Given the description of an element on the screen output the (x, y) to click on. 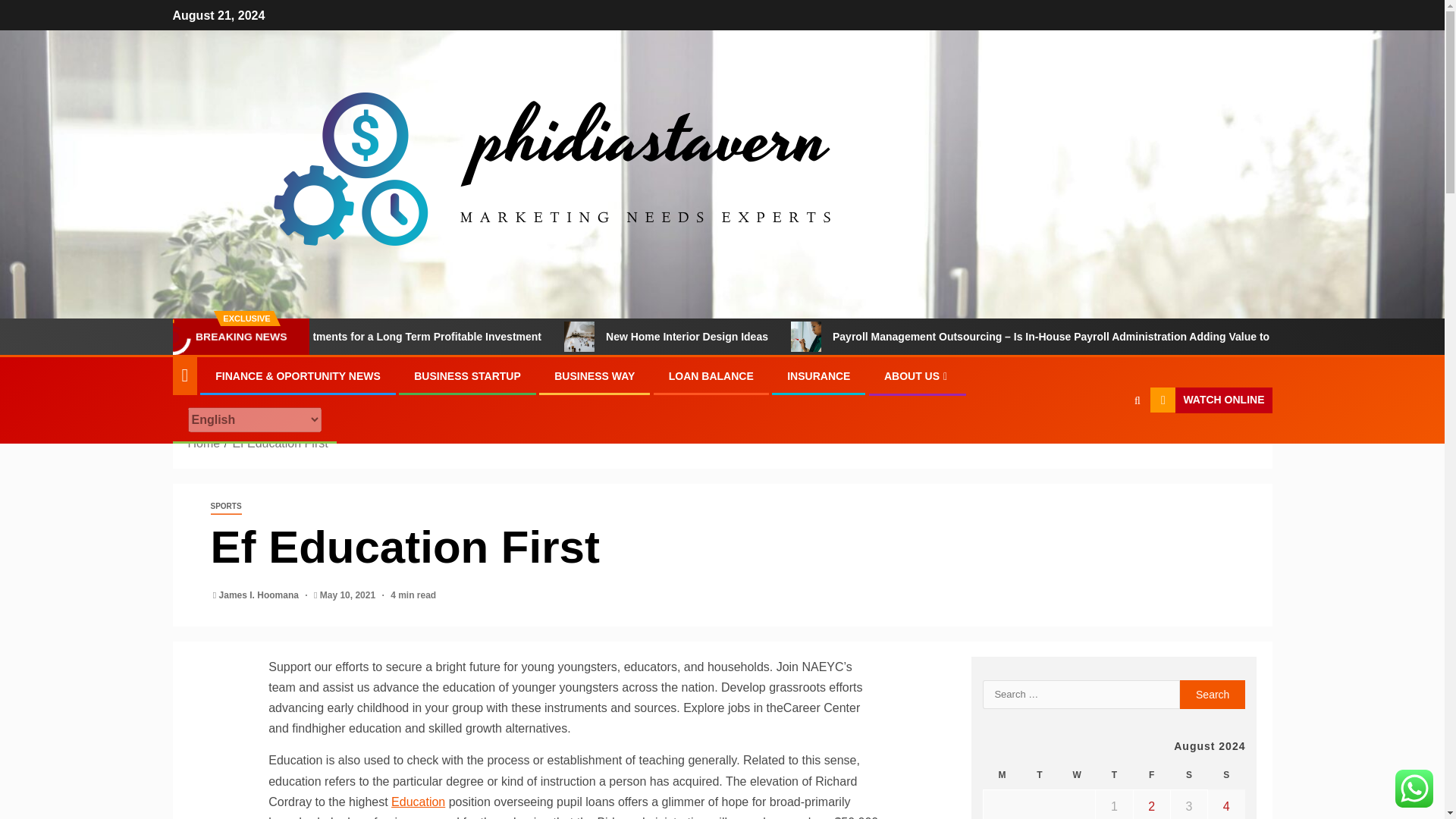
LOAN BALANCE (711, 376)
BUSINESS STARTUP (467, 376)
Home (204, 442)
ABOUT US (916, 376)
INSURANCE (818, 376)
Search (1212, 694)
SPORTS (226, 506)
BUSINESS WAY (594, 376)
Search (1212, 694)
Ef Education First (279, 442)
